Given the description of an element on the screen output the (x, y) to click on. 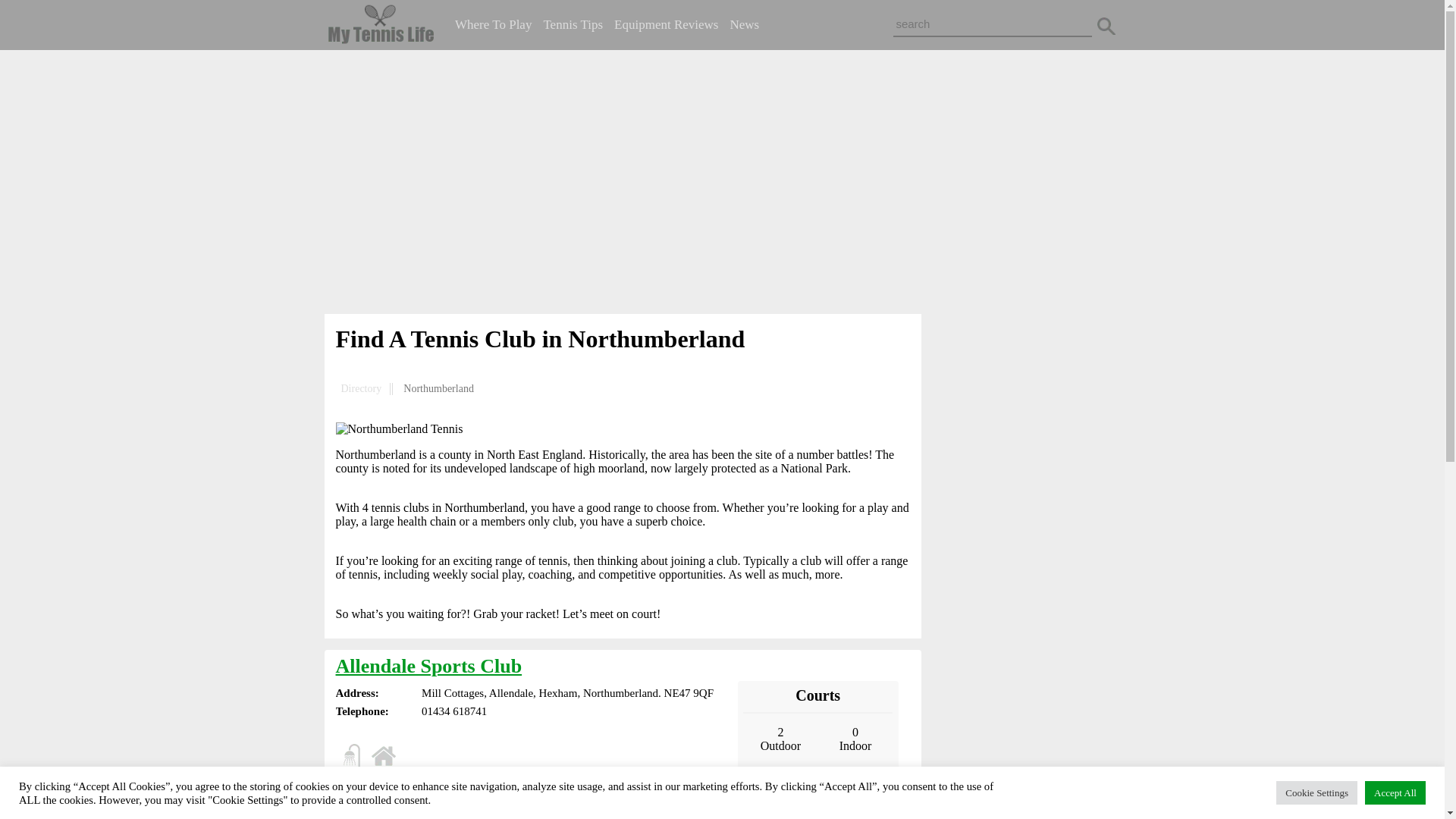
Allendale Sports Club (427, 666)
Equipment Reviews (665, 23)
Accept All (1395, 792)
Corbridge Tennis Club (431, 809)
News (743, 23)
Tennis Tips (572, 23)
Where To Play (492, 23)
Cookie Settings (1316, 792)
Clubhouse (383, 755)
